Given the description of an element on the screen output the (x, y) to click on. 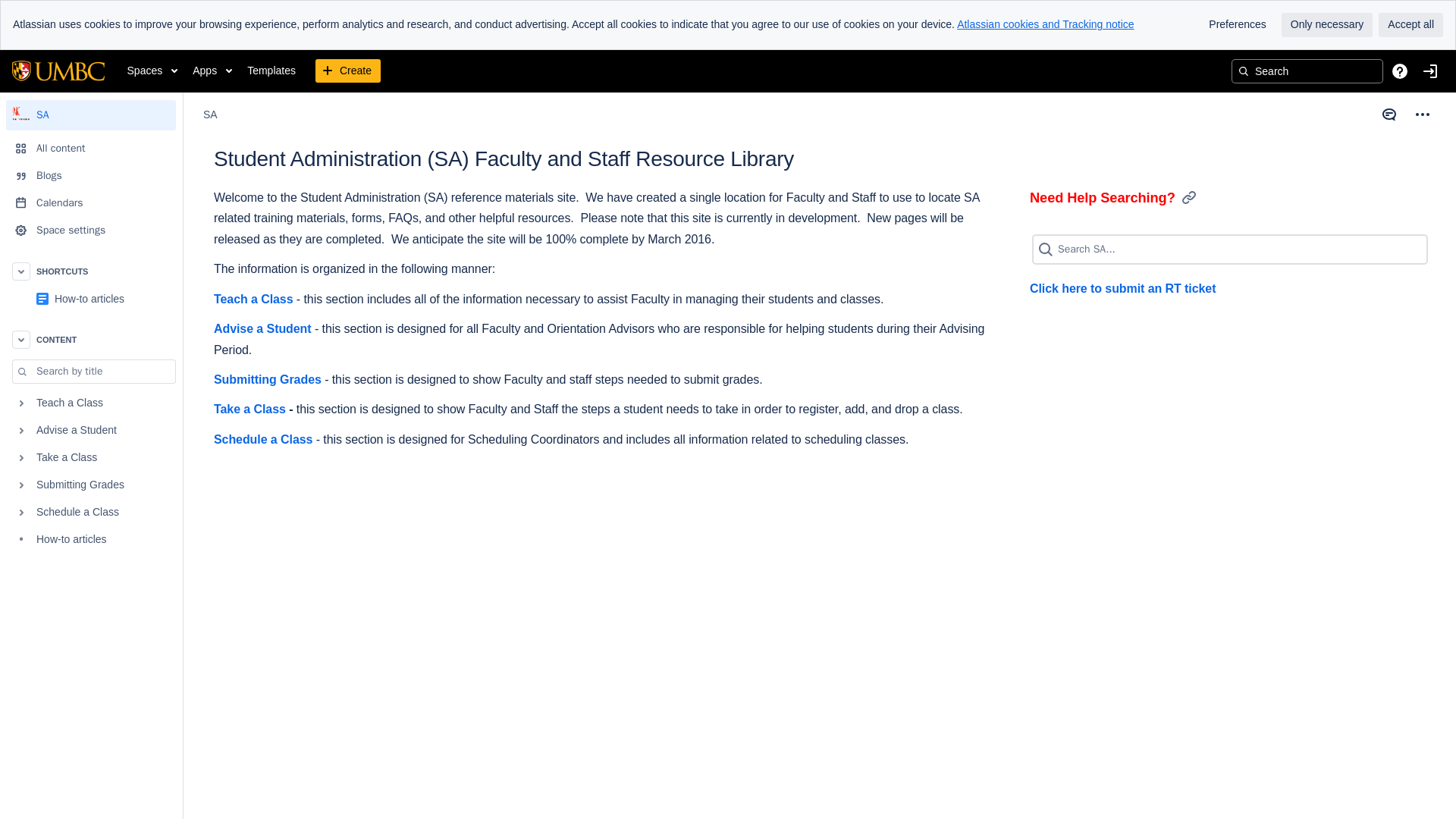
Spaces (152, 70)
All content (90, 148)
CONTENT (90, 338)
Templates (271, 70)
Blogs (90, 175)
Atlassian cookies and Tracking notice (1045, 24)
Submitting Grades (90, 484)
Schedule a Class (90, 512)
Teach a Class (90, 402)
Accept all (1410, 24)
SA (90, 114)
Take a Class (90, 457)
Space settings (90, 230)
Preferences (1237, 24)
SA (209, 114)
